Given the description of an element on the screen output the (x, y) to click on. 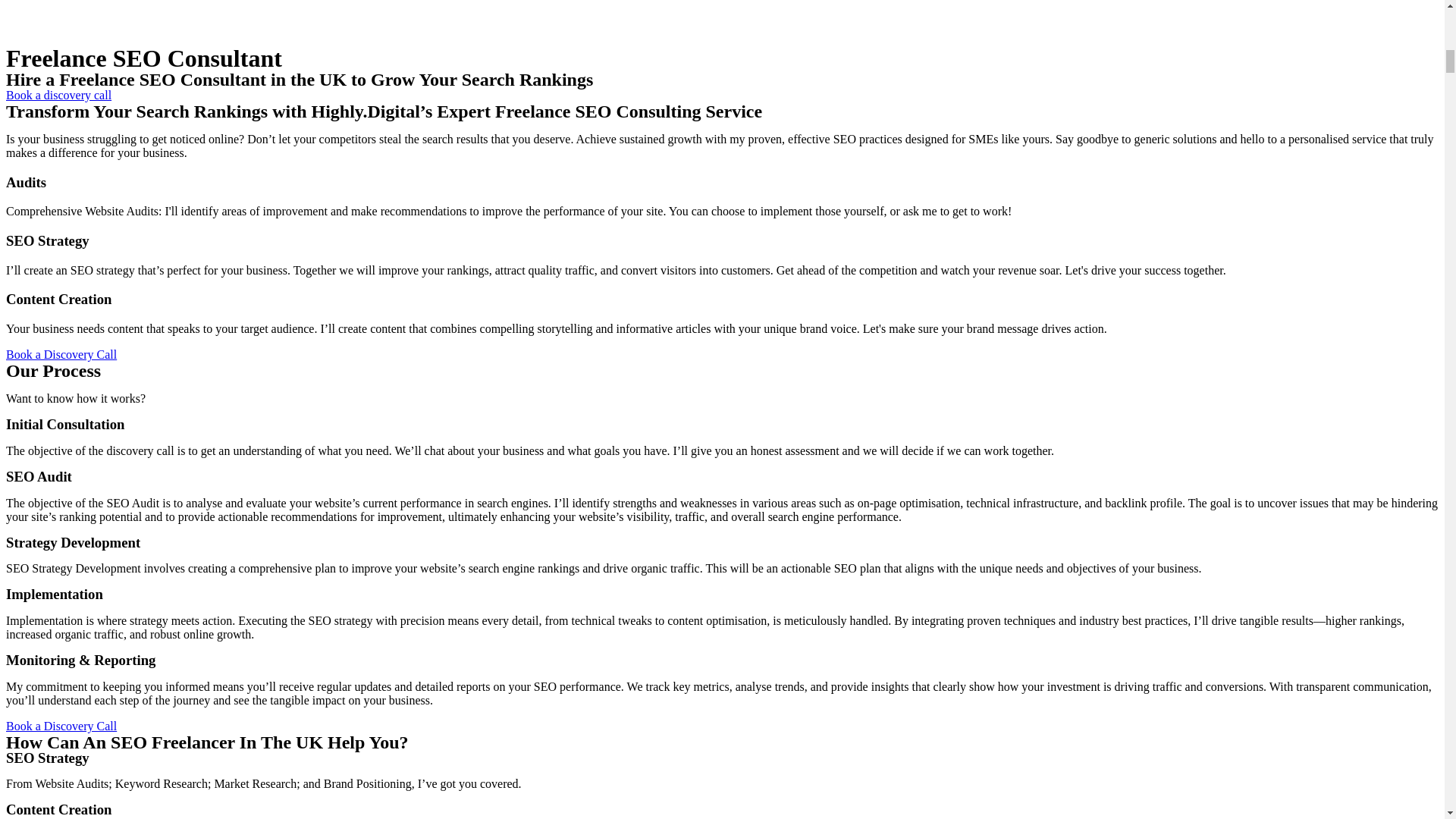
Book a Discovery Call (60, 725)
Book a discovery call (58, 94)
Book a Discovery Call (60, 354)
